Given the description of an element on the screen output the (x, y) to click on. 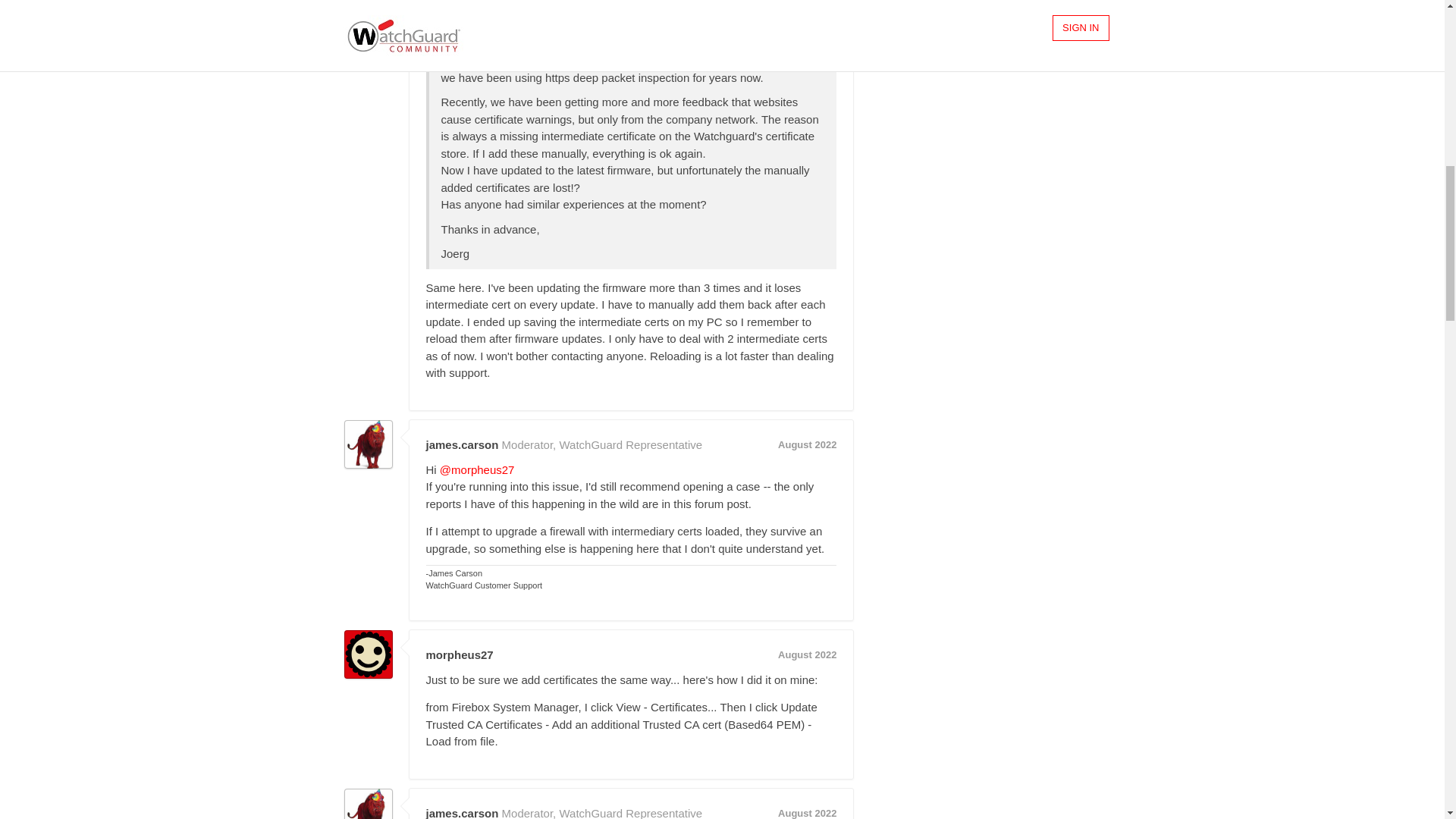
morpheus27 (368, 653)
August 2022 (806, 813)
james.carson (368, 803)
August 2022 (806, 654)
morpheus27 (459, 5)
August 25, 2022 7:22PM (806, 813)
morpheus27 (459, 654)
james.carson (462, 444)
August 25, 2022 6:36PM (806, 654)
August 2022 (806, 444)
August 2022 (806, 4)
james.carson (368, 444)
August 24, 2022 5:25PM (806, 444)
morpheus27 (368, 13)
August 24, 2022 4:38PM (806, 4)
